Given the description of an element on the screen output the (x, y) to click on. 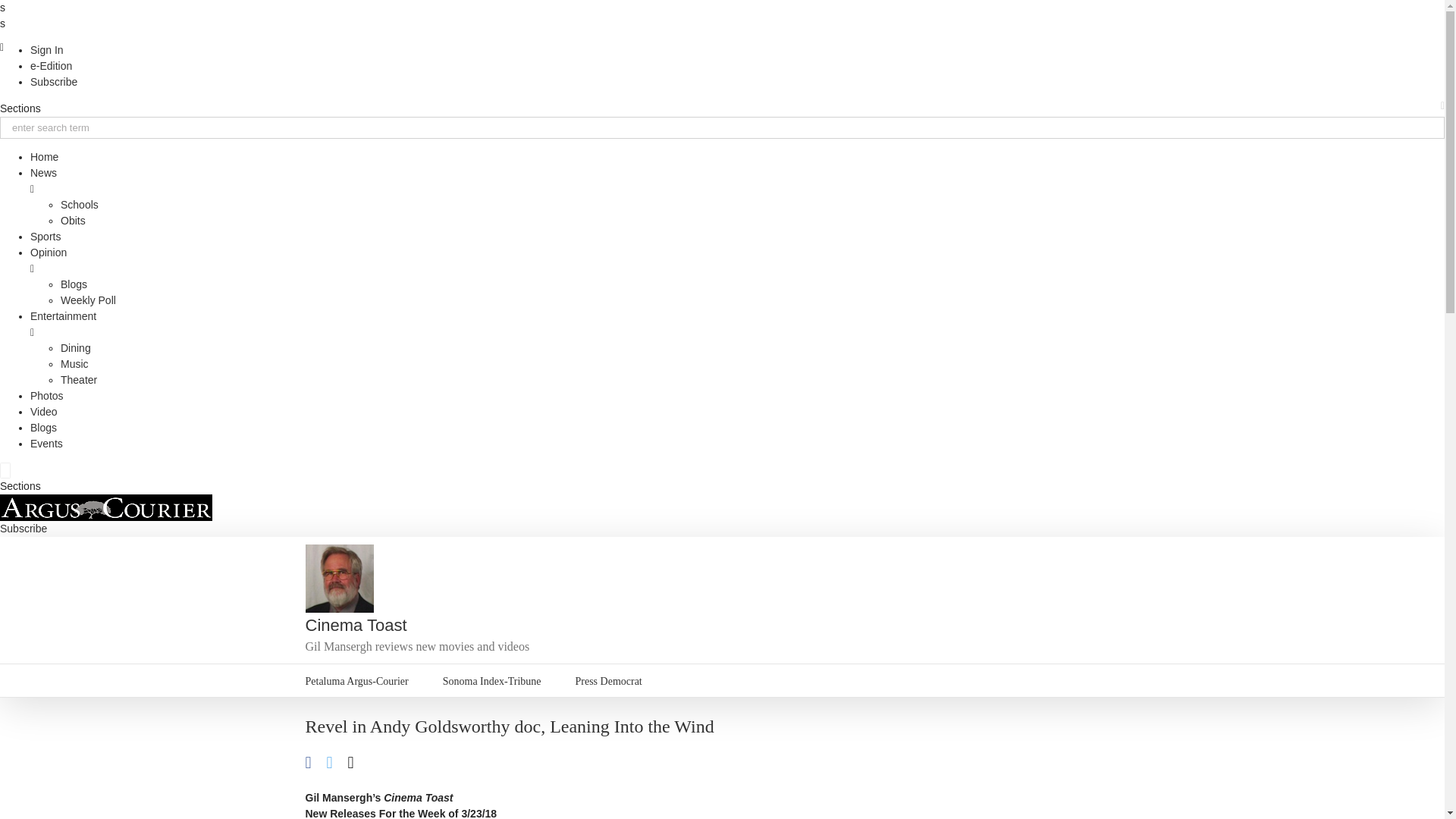
Events (46, 443)
News (43, 173)
Cinema Toast (355, 624)
Photos (47, 395)
Opinion (48, 252)
3rd party ad content (862, 578)
Subscribe (53, 81)
e-Edition (50, 65)
Dining (75, 347)
Sonoma Index-Tribune (491, 680)
Video (44, 411)
Subscribe (23, 528)
3rd party ad content (1024, 777)
Blogs (43, 427)
Sign In (47, 50)
